Given the description of an element on the screen output the (x, y) to click on. 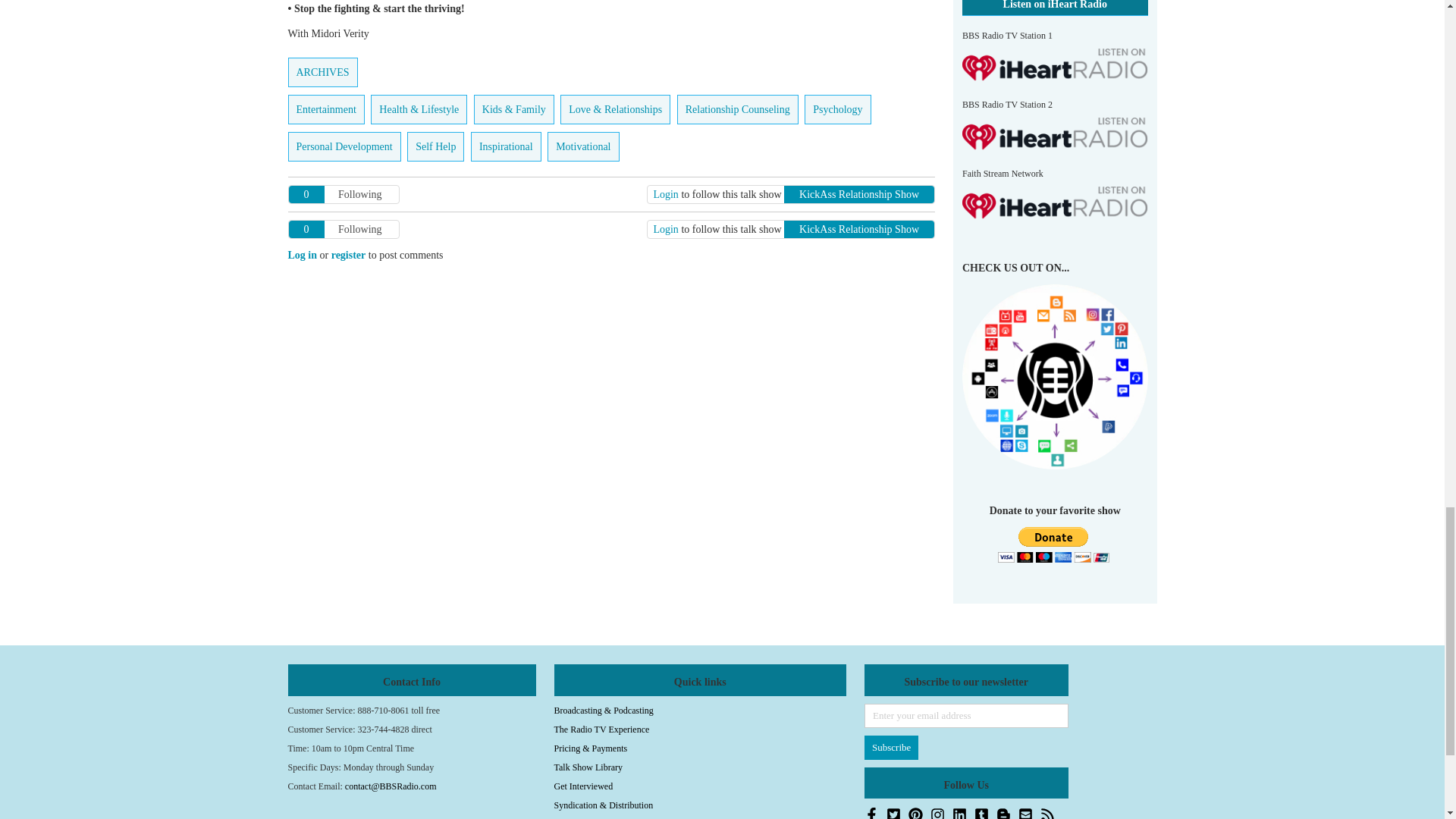
Subscribe (891, 747)
